Given the description of an element on the screen output the (x, y) to click on. 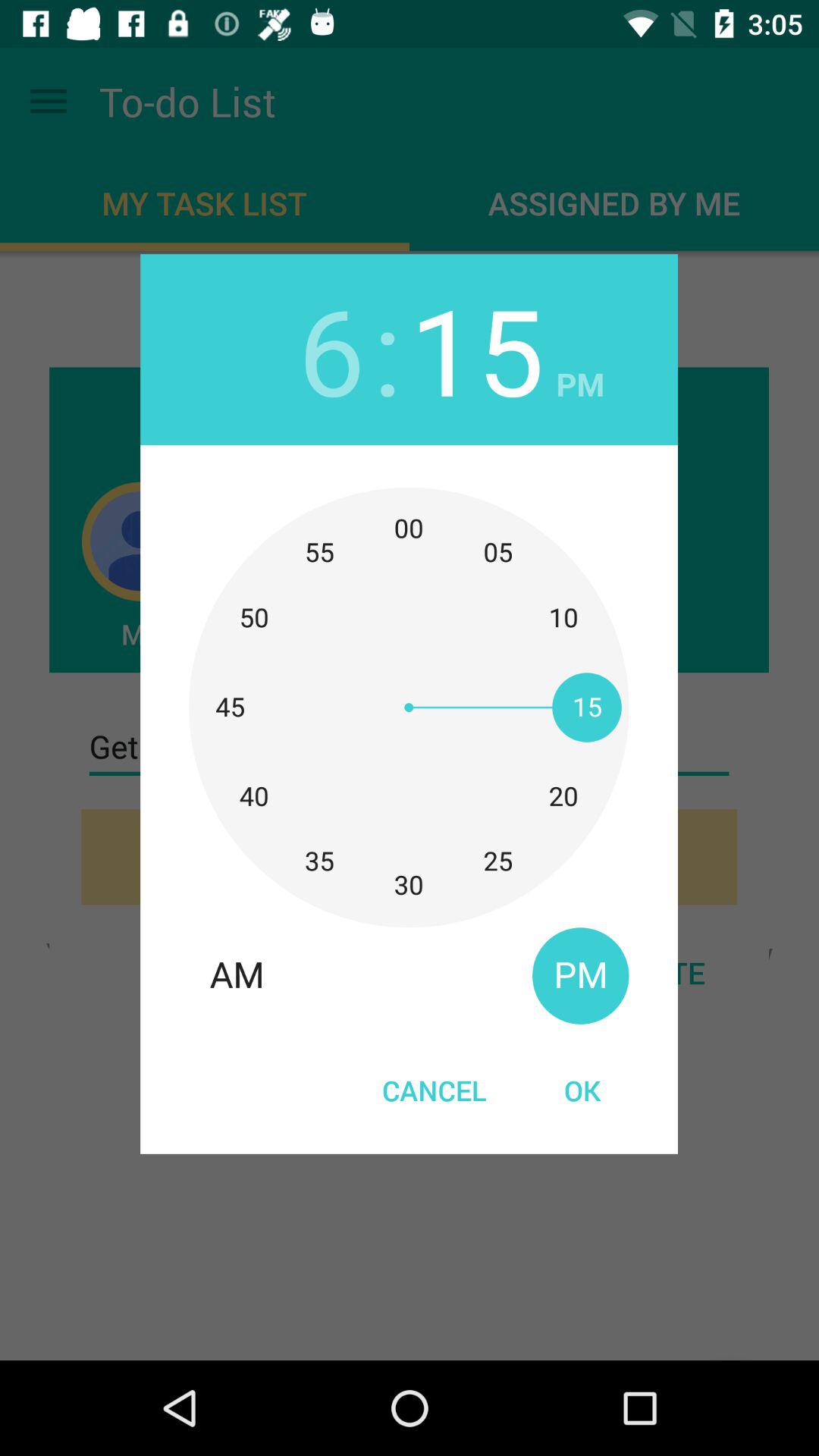
select icon to the right of cancel item (582, 1090)
